Given the description of an element on the screen output the (x, y) to click on. 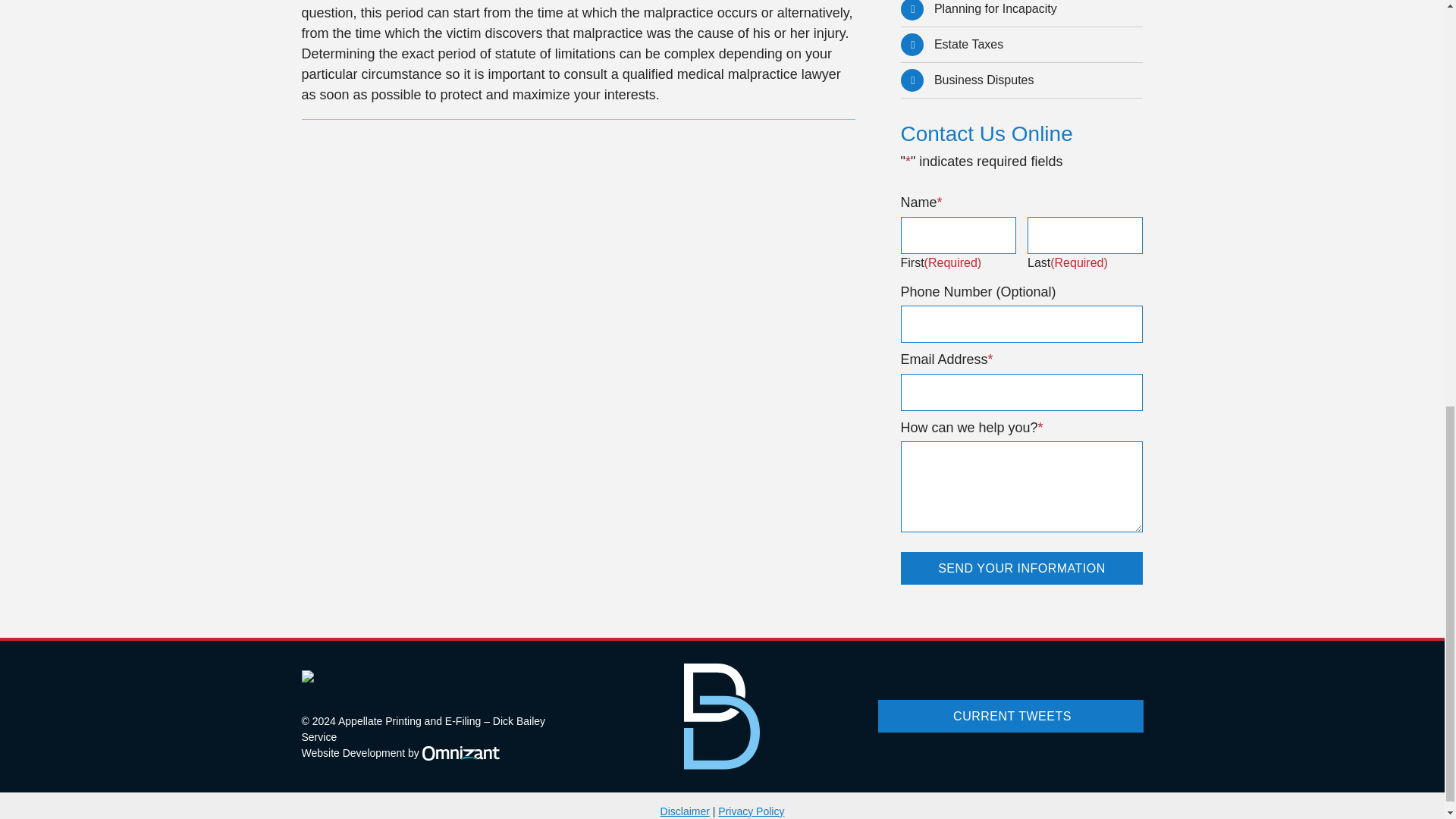
Send Your Information (1021, 568)
Estate Taxes (400, 753)
Send Your Information (1021, 44)
Planning for Incapacity (1021, 568)
Business Disputes (1021, 13)
